Given the description of an element on the screen output the (x, y) to click on. 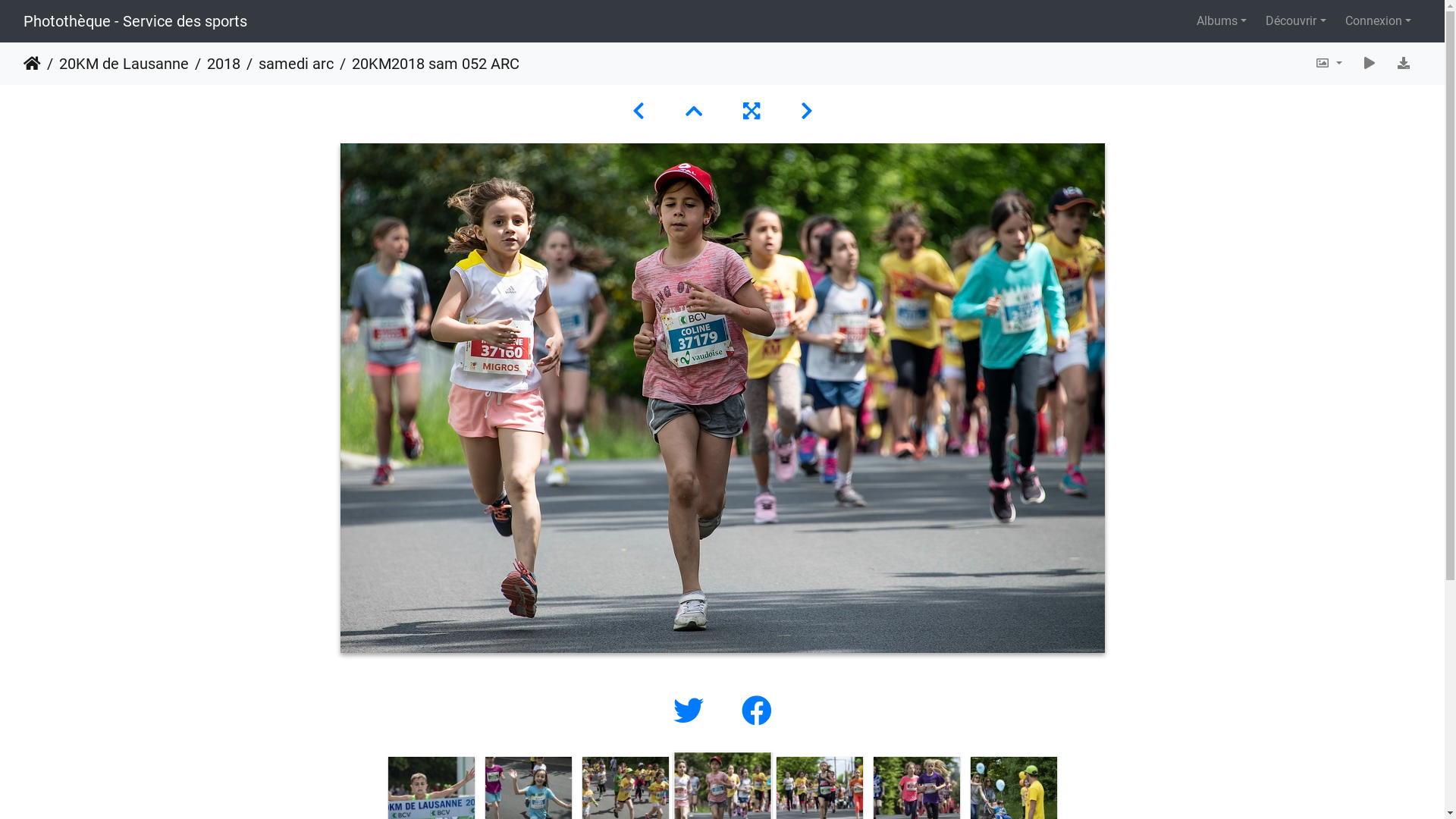
Suivante : 20KM2018 sam 051 ARC Element type: hover (806, 111)
Connexion Element type: text (1378, 21)
Previous Element type: text (371, 803)
Accueil Element type: text (31, 63)
samedi arc Element type: text (286, 63)
2018 Element type: text (214, 63)
20KM de Lausanne Element type: text (114, 63)
Tailles de photo Element type: hover (1328, 63)
Share on Twitter Element type: hover (692, 711)
Miniatures Element type: hover (695, 111)
Albums Element type: text (1221, 21)
20KM2018 sam 052 ARC - 20KM2018_sam_052_ARC.jpg Element type: hover (721, 397)
Share on Facebook Element type: hover (756, 711)
Next Element type: text (1072, 803)
diaporama Element type: hover (1369, 63)
